Given the description of an element on the screen output the (x, y) to click on. 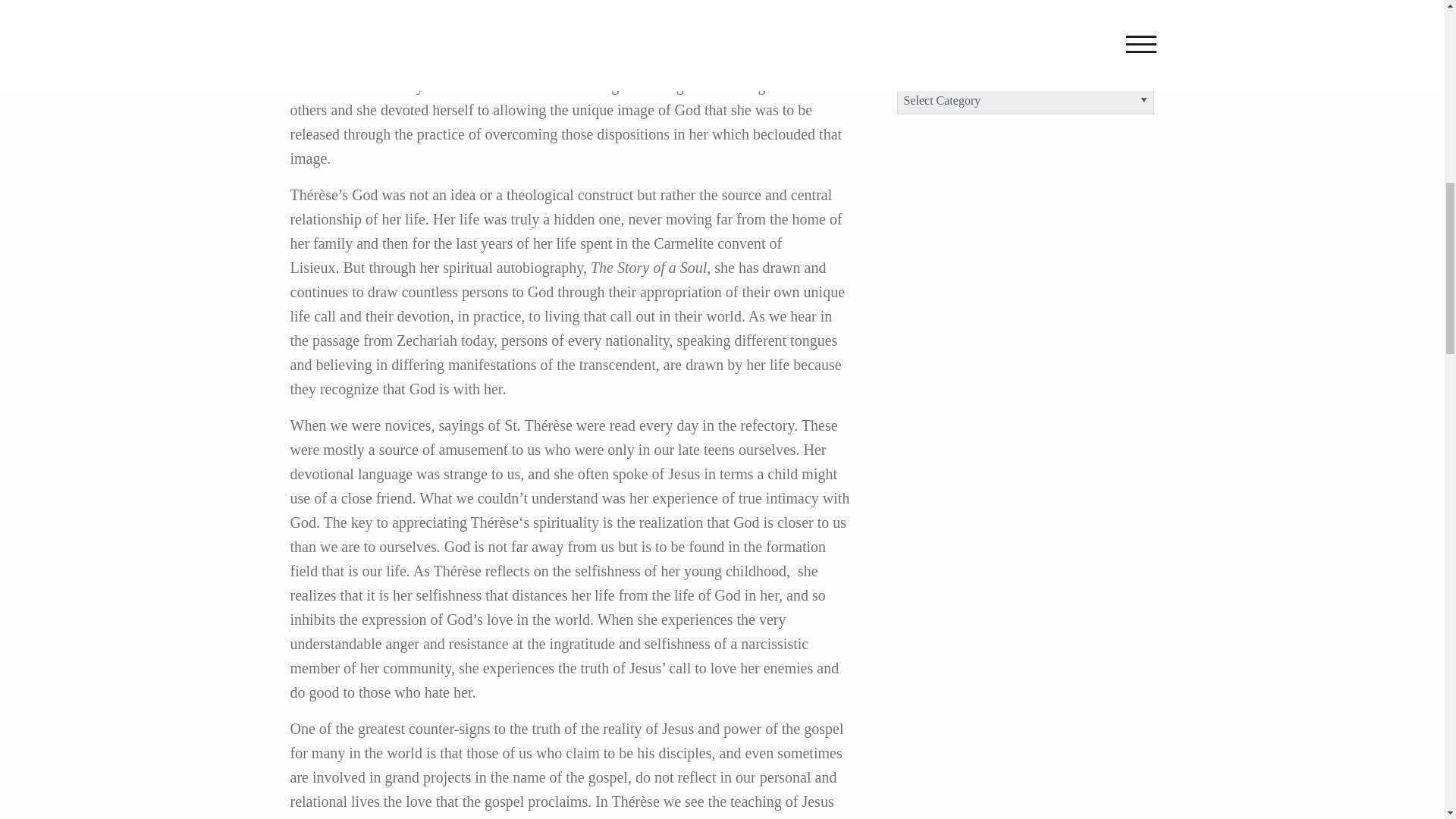
Brother William Cushing, C.F.X. (1021, 15)
